Given the description of an element on the screen output the (x, y) to click on. 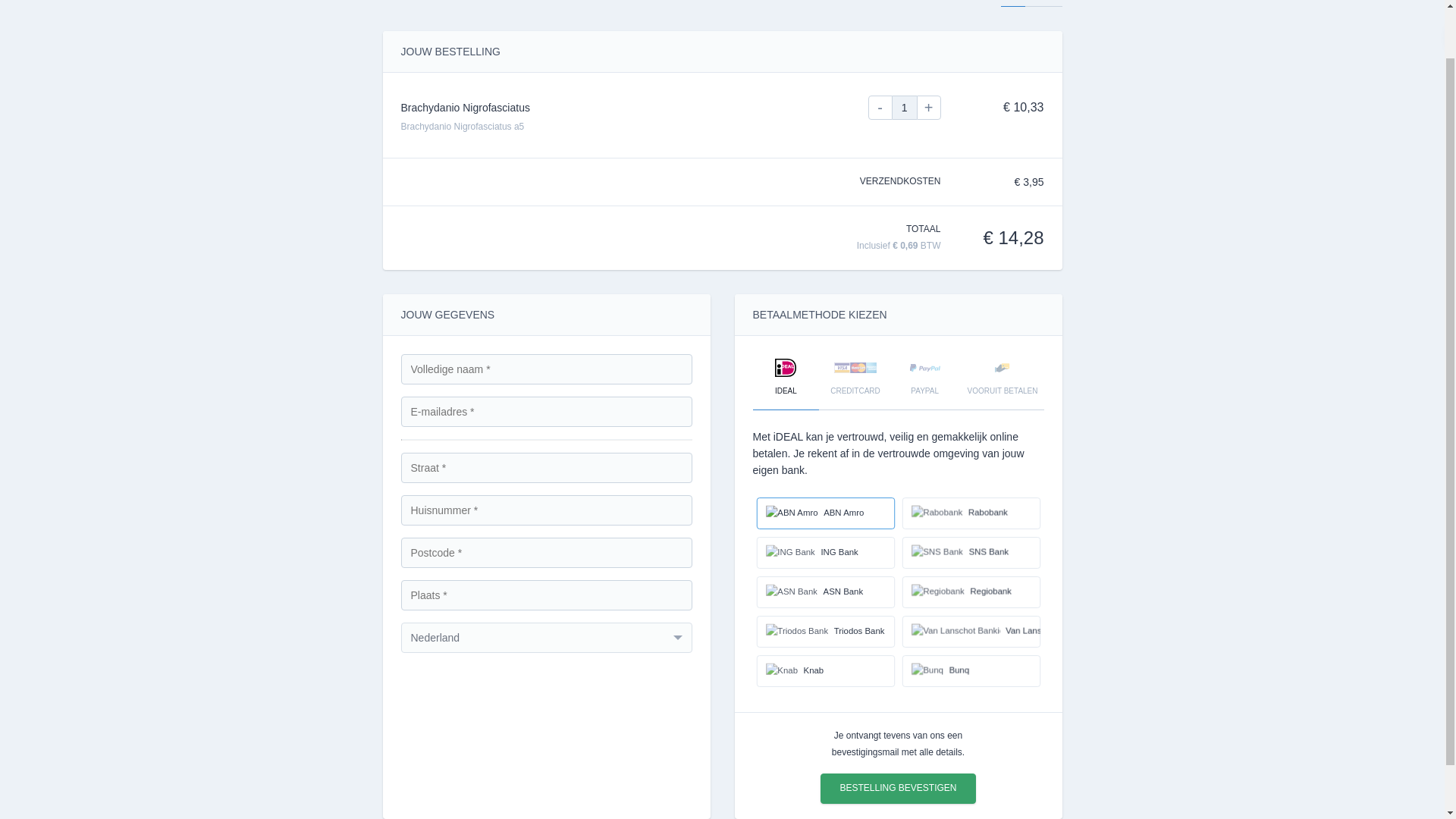
IDEAL (785, 379)
ING Bank (828, 553)
VOORUIT BETALEN (1001, 379)
Rabobank (973, 513)
Regiobank (973, 592)
Triodos Bank (828, 632)
BESTELLING BEVESTIGEN (898, 788)
SNS Bank (973, 553)
- (879, 107)
ASN Bank (828, 592)
CREDITCARD (855, 379)
Knab (828, 671)
Bunq (973, 671)
PAYPAL (924, 379)
NL (1013, 3)
